Given the description of an element on the screen output the (x, y) to click on. 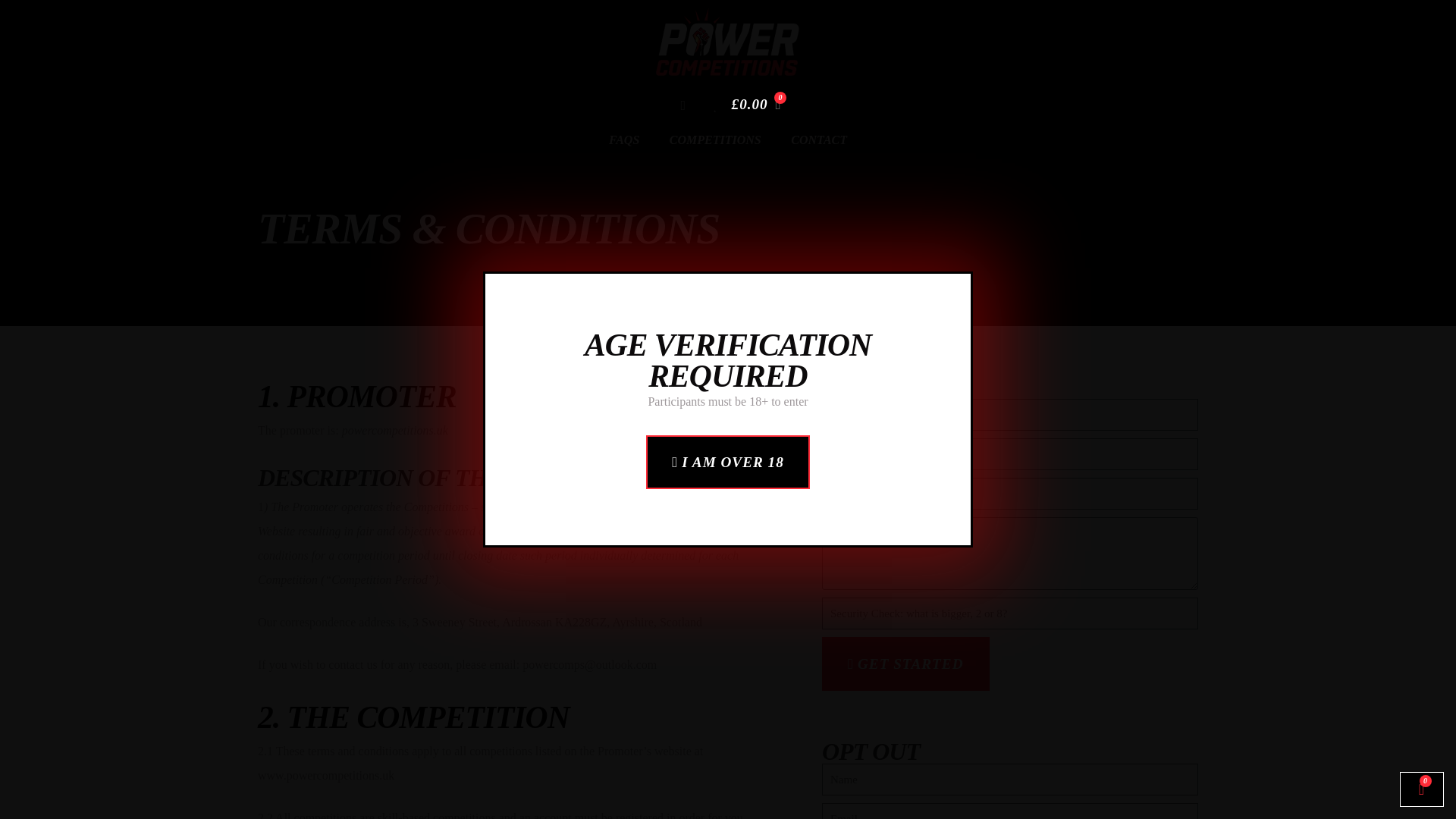
CONTACT (818, 139)
COMPETITIONS (714, 139)
0 (1421, 789)
FAQS (623, 139)
GET STARTED (906, 664)
